Given the description of an element on the screen output the (x, y) to click on. 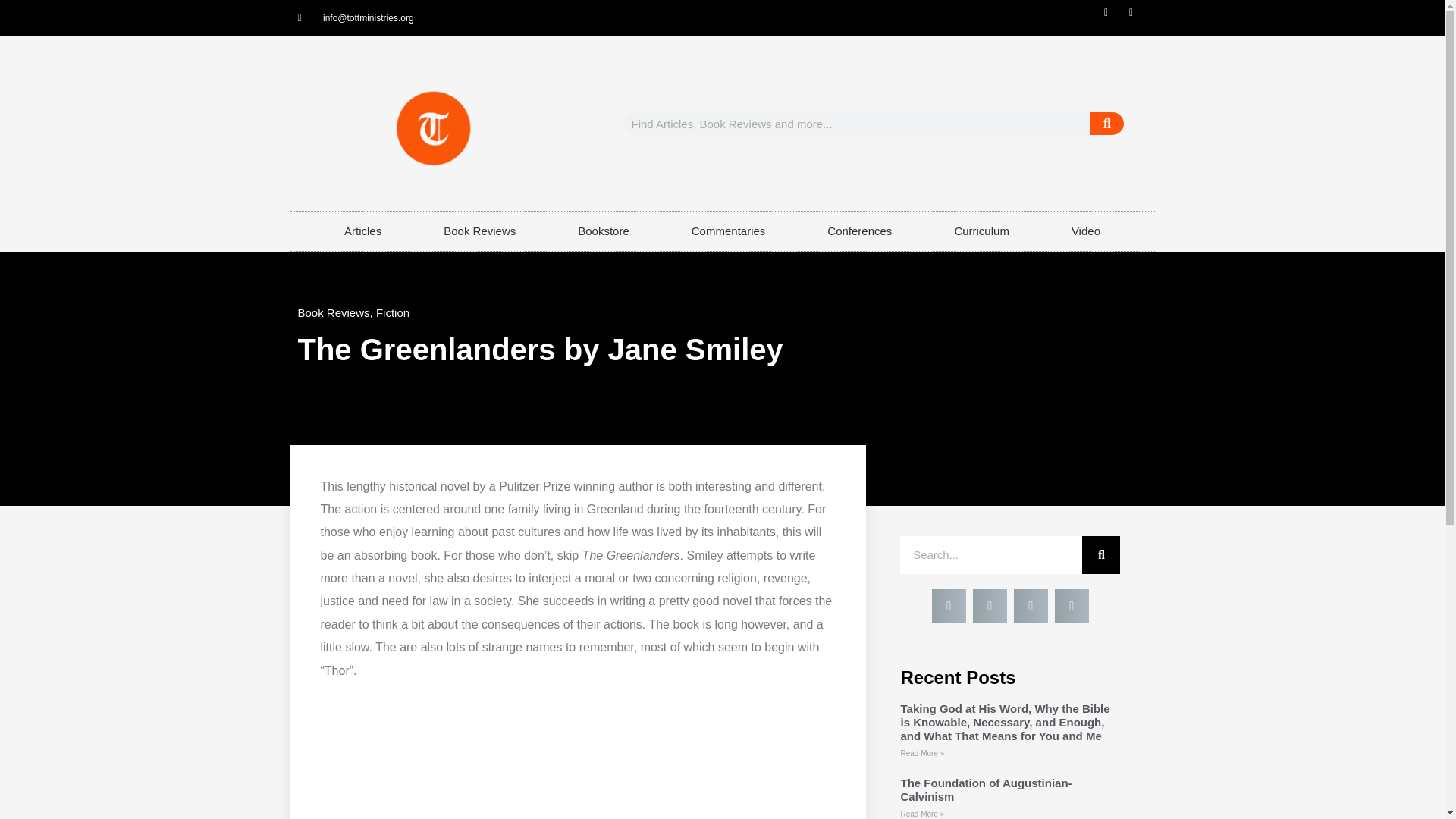
Book Reviews (479, 230)
Fiction (392, 312)
Bookstore (604, 230)
Articles (362, 230)
Book Reviews (333, 312)
Commentaries (728, 230)
The Foundation of Augustinian-Calvinism (985, 789)
Video (1086, 230)
Curriculum (982, 230)
